Given the description of an element on the screen output the (x, y) to click on. 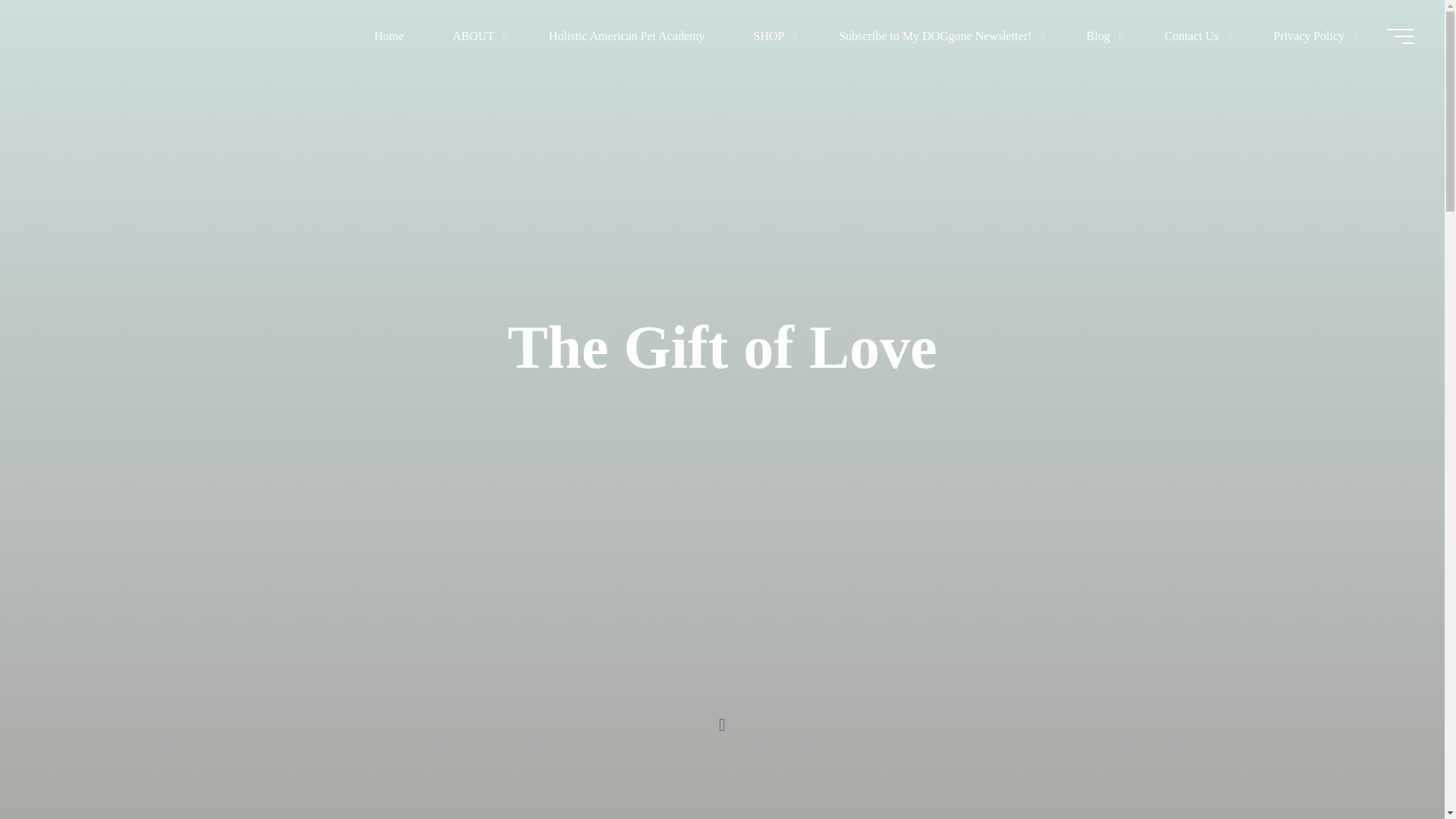
Read more (721, 724)
Home (389, 35)
ABOUT (476, 35)
